Given the description of an element on the screen output the (x, y) to click on. 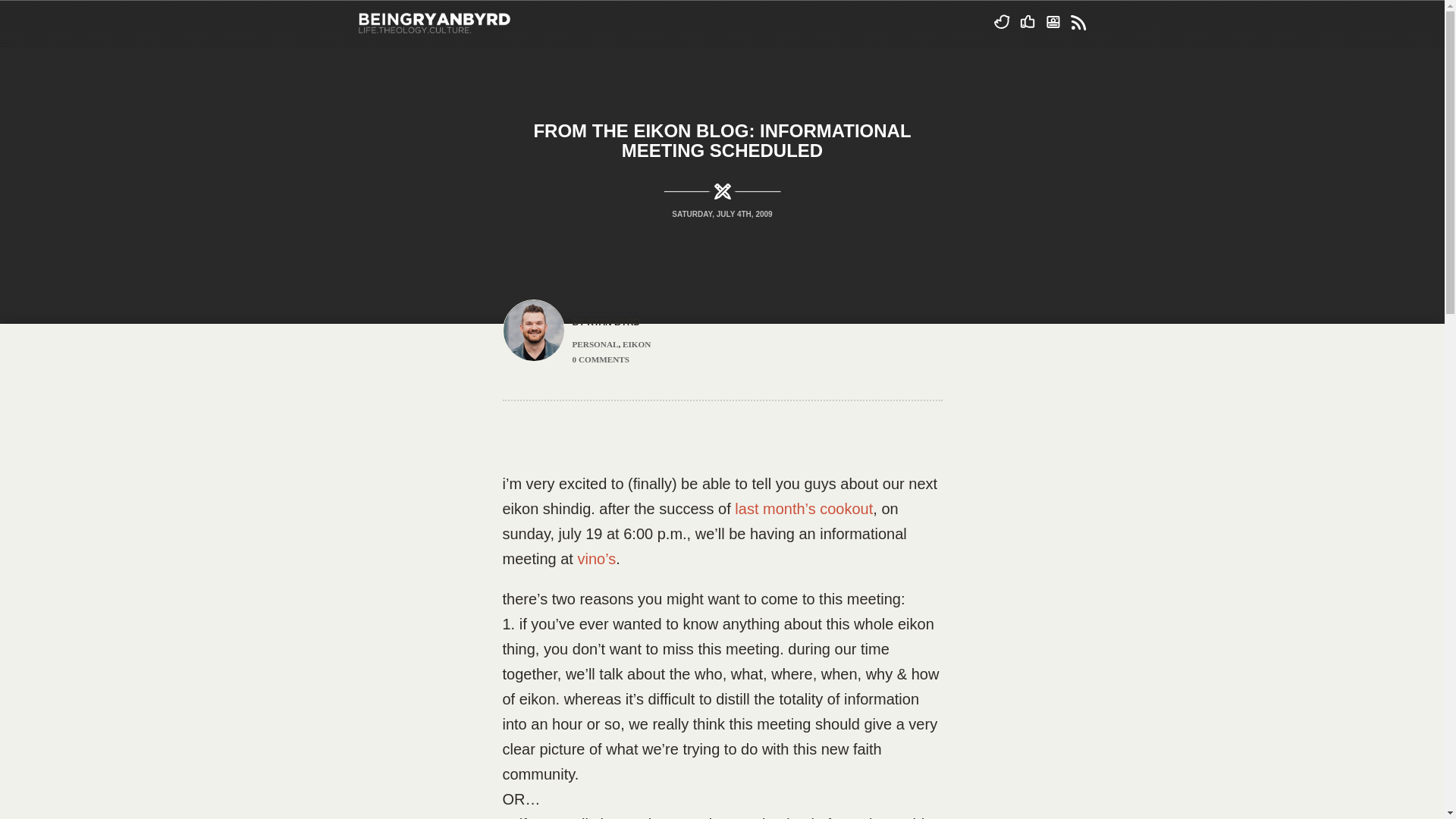
0 COMMENTS (600, 358)
FROM THE EIKON BLOG: INFORMATIONAL MEETING SCHEDULED (721, 140)
EIKON (636, 343)
PERSONAL (594, 343)
